Given the description of an element on the screen output the (x, y) to click on. 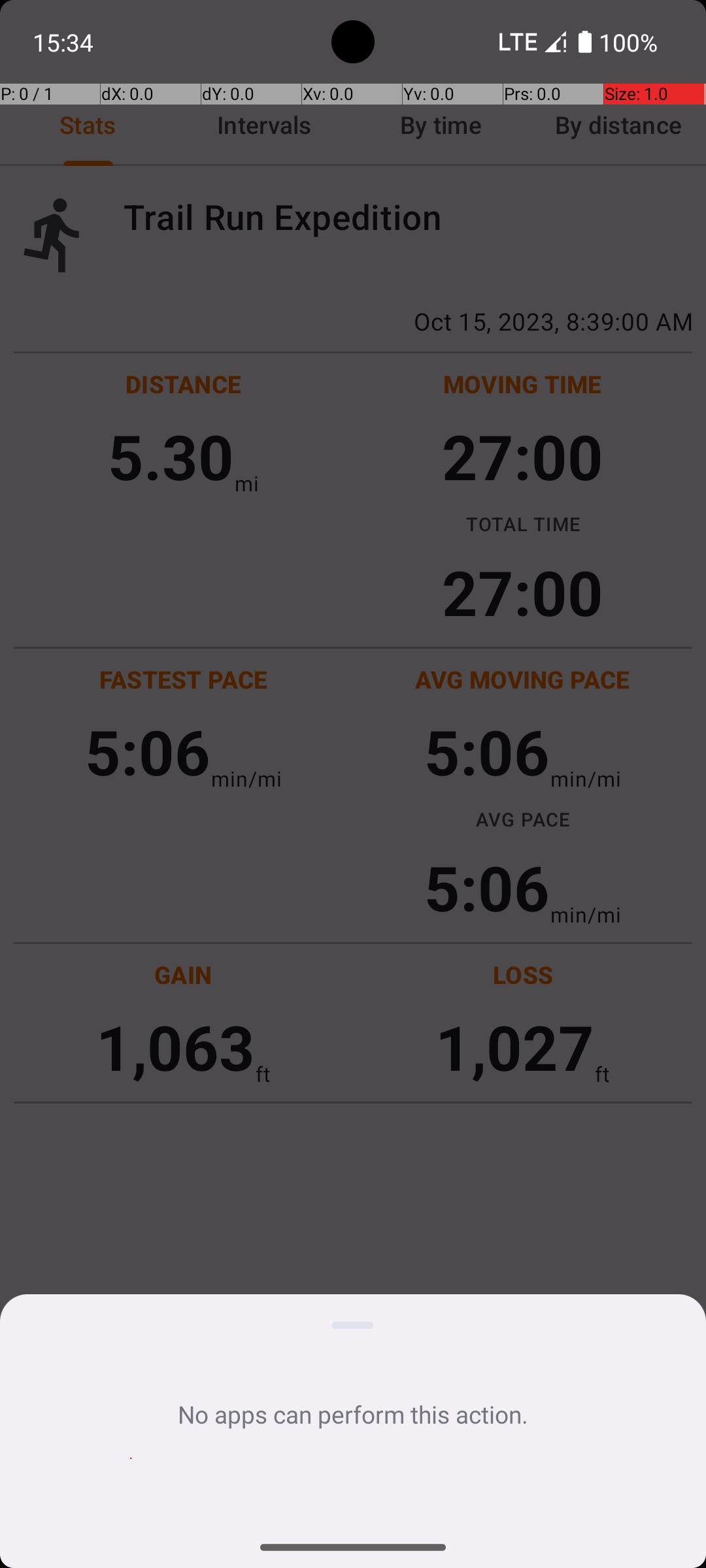
No apps can perform this action. Element type: android.widget.TextView (352, 1413)
